Given the description of an element on the screen output the (x, y) to click on. 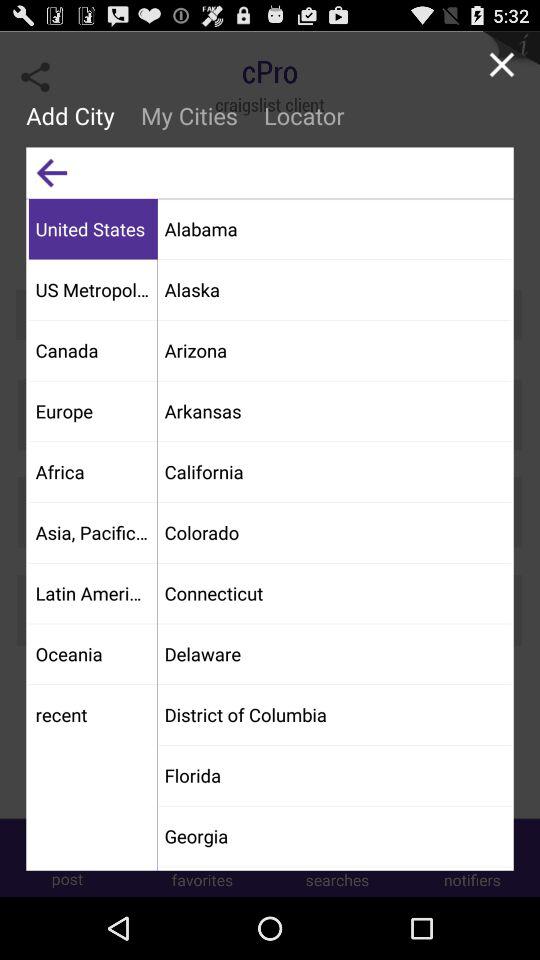
remove (501, 63)
